Given the description of an element on the screen output the (x, y) to click on. 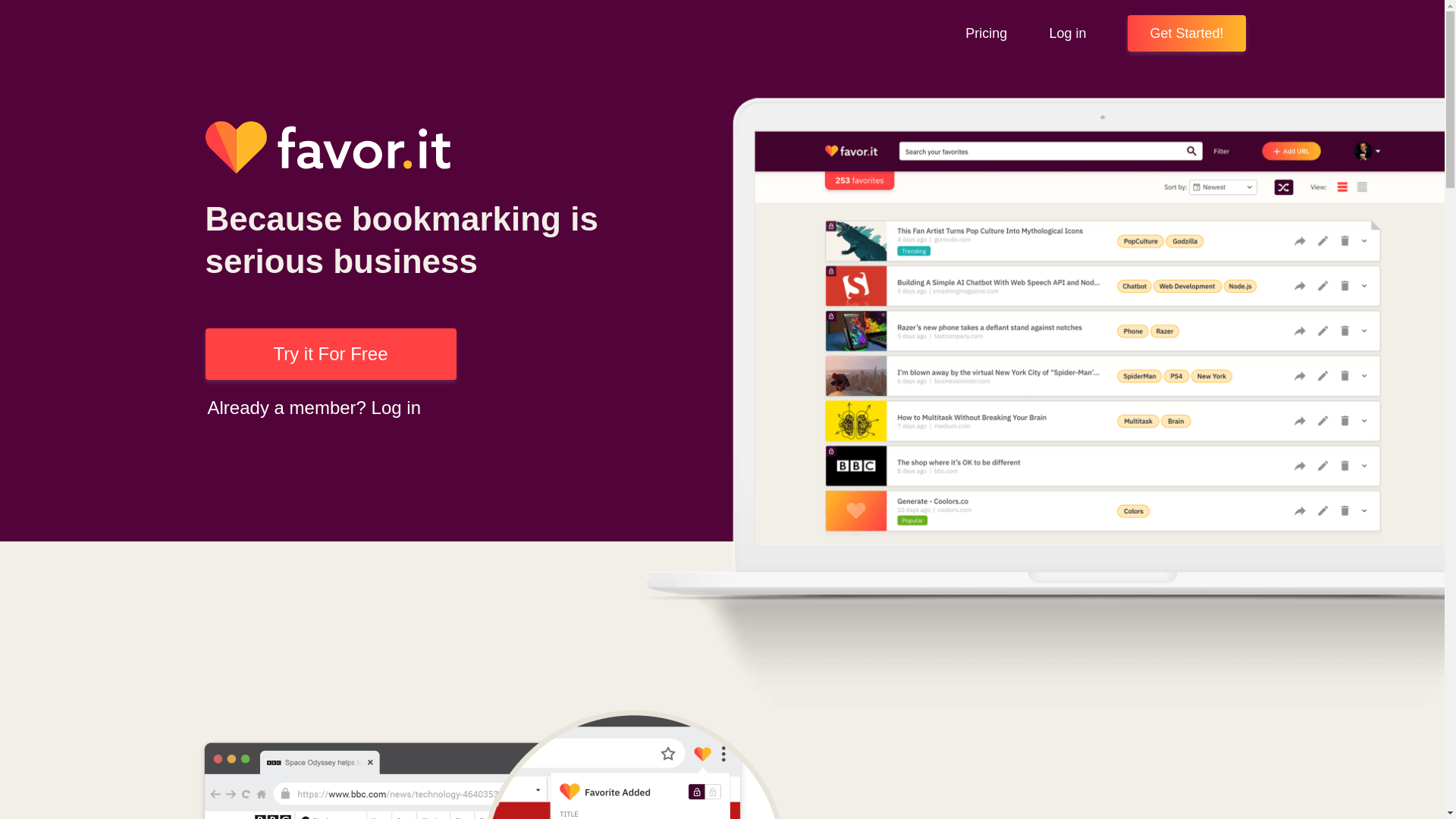
Get Started! (1185, 33)
Try it For Free (330, 354)
Pricing (986, 32)
Log in (395, 407)
Log in (1067, 32)
